Given the description of an element on the screen output the (x, y) to click on. 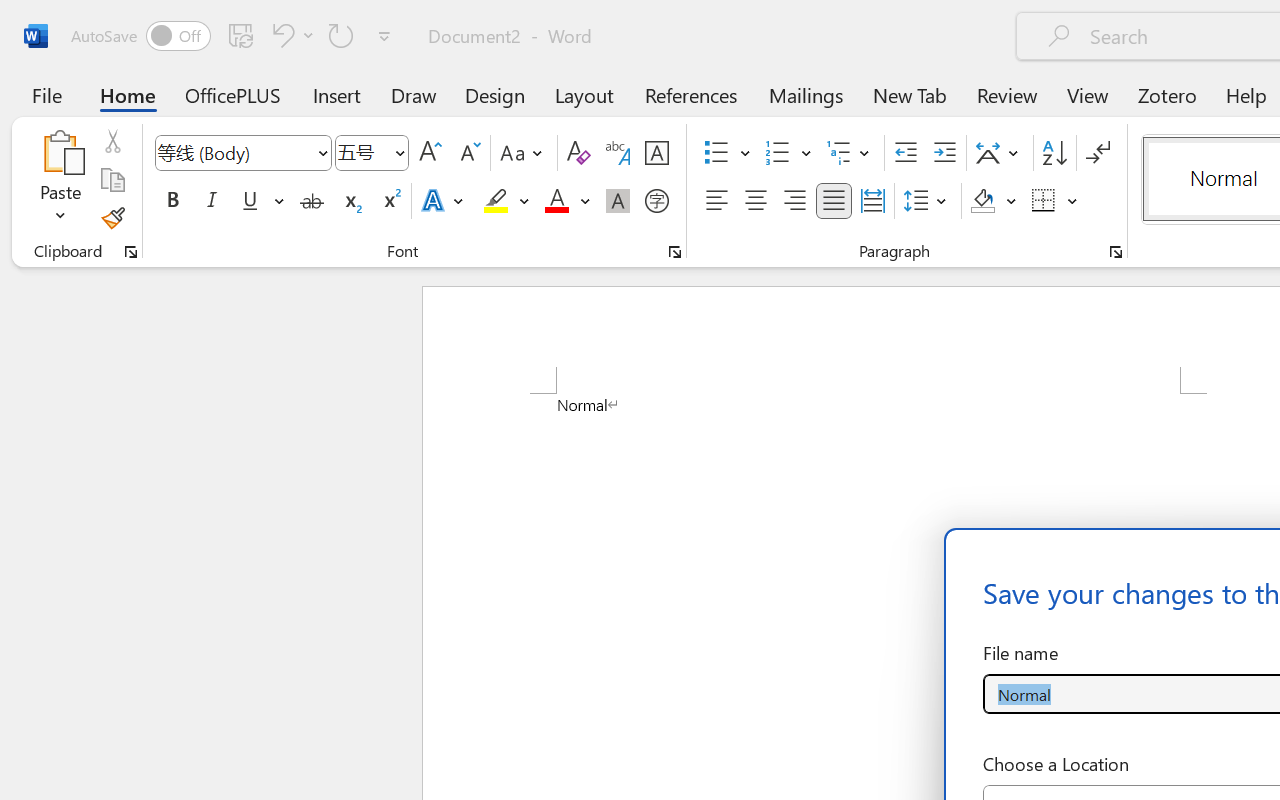
New Tab (909, 94)
File Tab (46, 94)
Center (756, 201)
Italic (212, 201)
Font Color Red (556, 201)
Subscript (350, 201)
Font Size (372, 153)
OfficePLUS (233, 94)
Text Highlight Color (506, 201)
Draw (413, 94)
Bullets (727, 153)
Font (242, 153)
Layout (584, 94)
Text Highlight Color Yellow (495, 201)
